Given the description of an element on the screen output the (x, y) to click on. 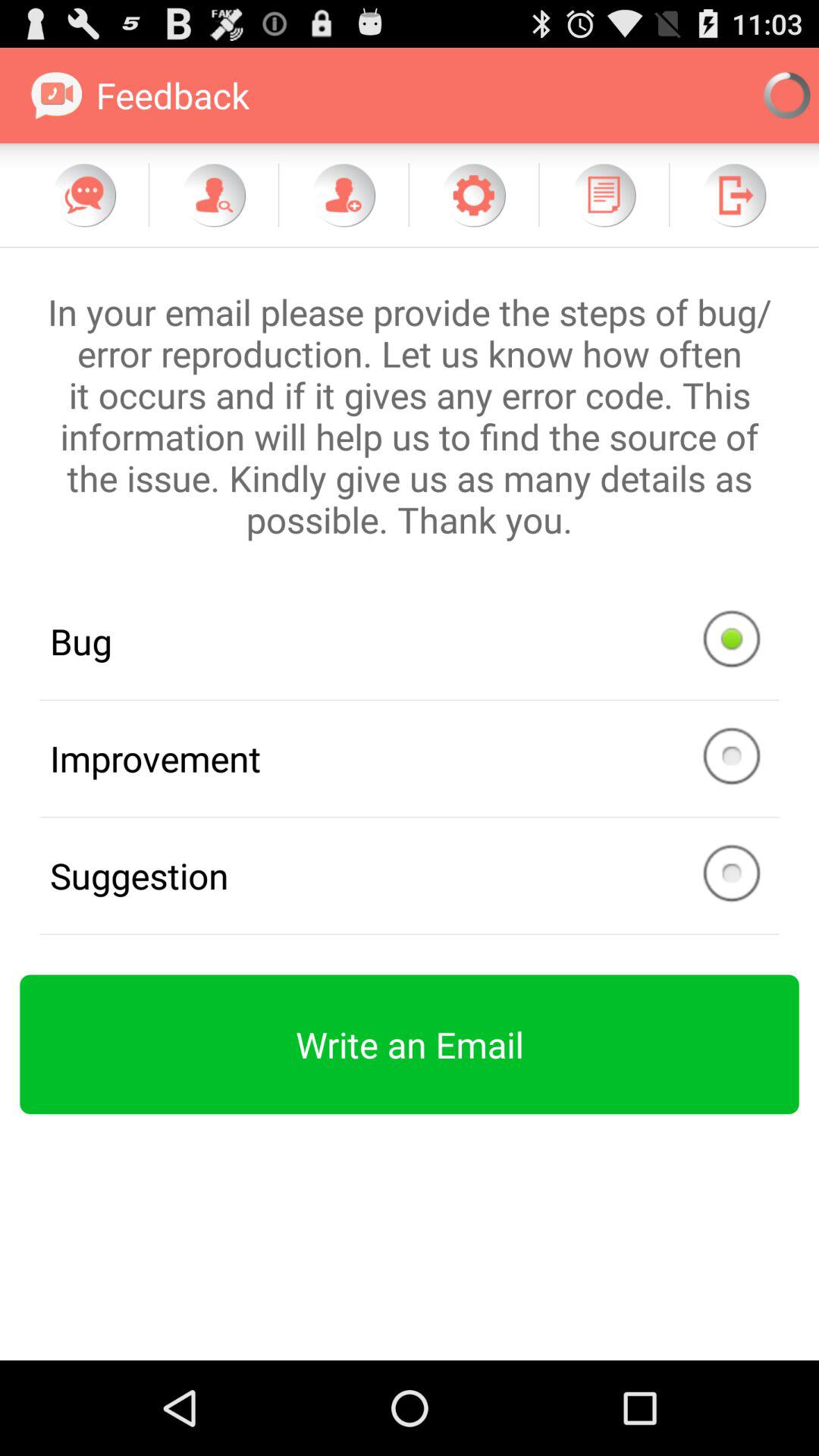
turn off item below the suggestion icon (409, 1044)
